Given the description of an element on the screen output the (x, y) to click on. 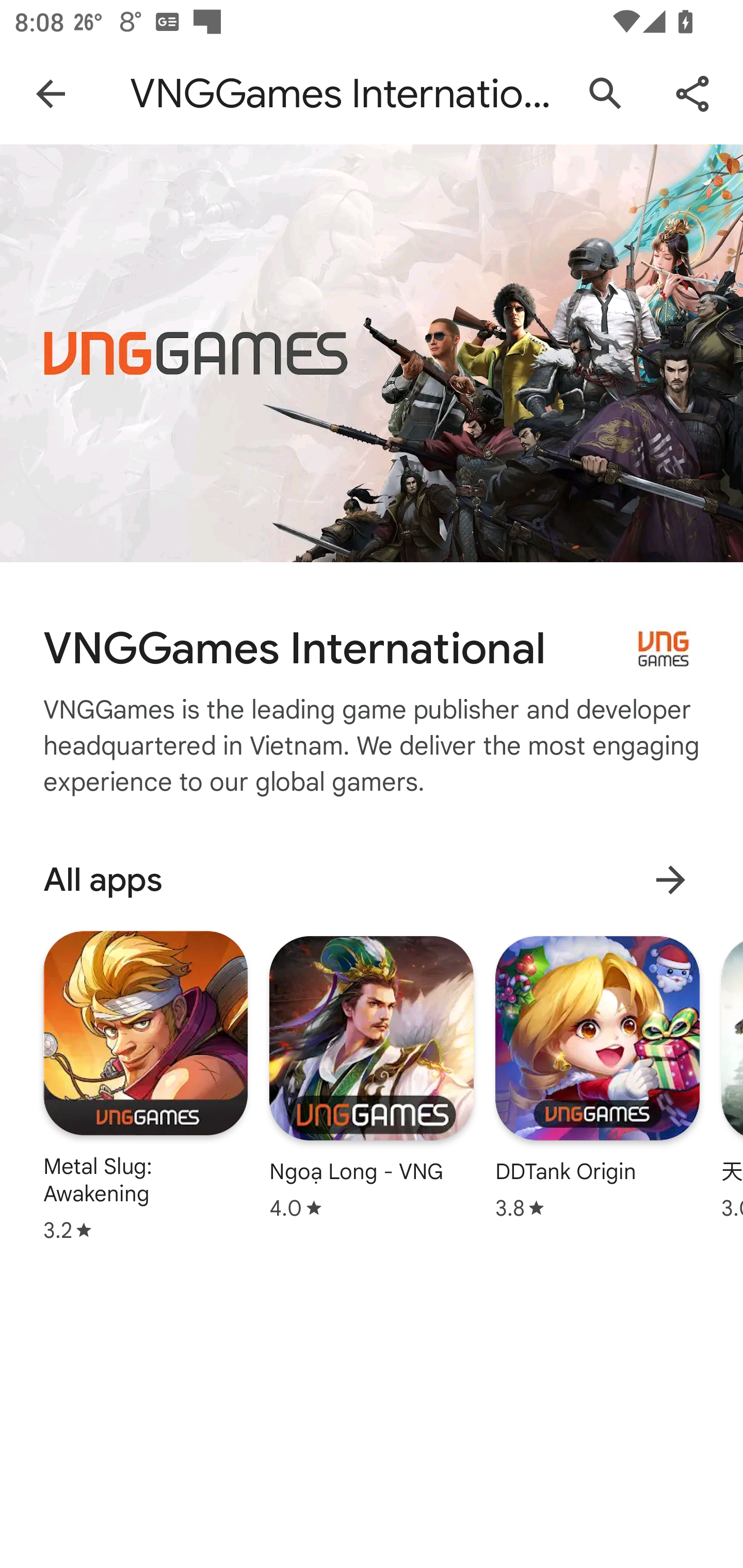
Navigate up (50, 93)
Search Google Play (605, 93)
Share (692, 93)
All apps More results for All apps (371, 879)
More results for All apps (670, 880)
Metal Slug: Awakening
Star rating: 3.2
 (145, 1085)
Ngoạ Long - VNG
Star rating: 4.0
 (371, 1076)
DDTank Origin
Star rating: 3.8
 (597, 1076)
